Given the description of an element on the screen output the (x, y) to click on. 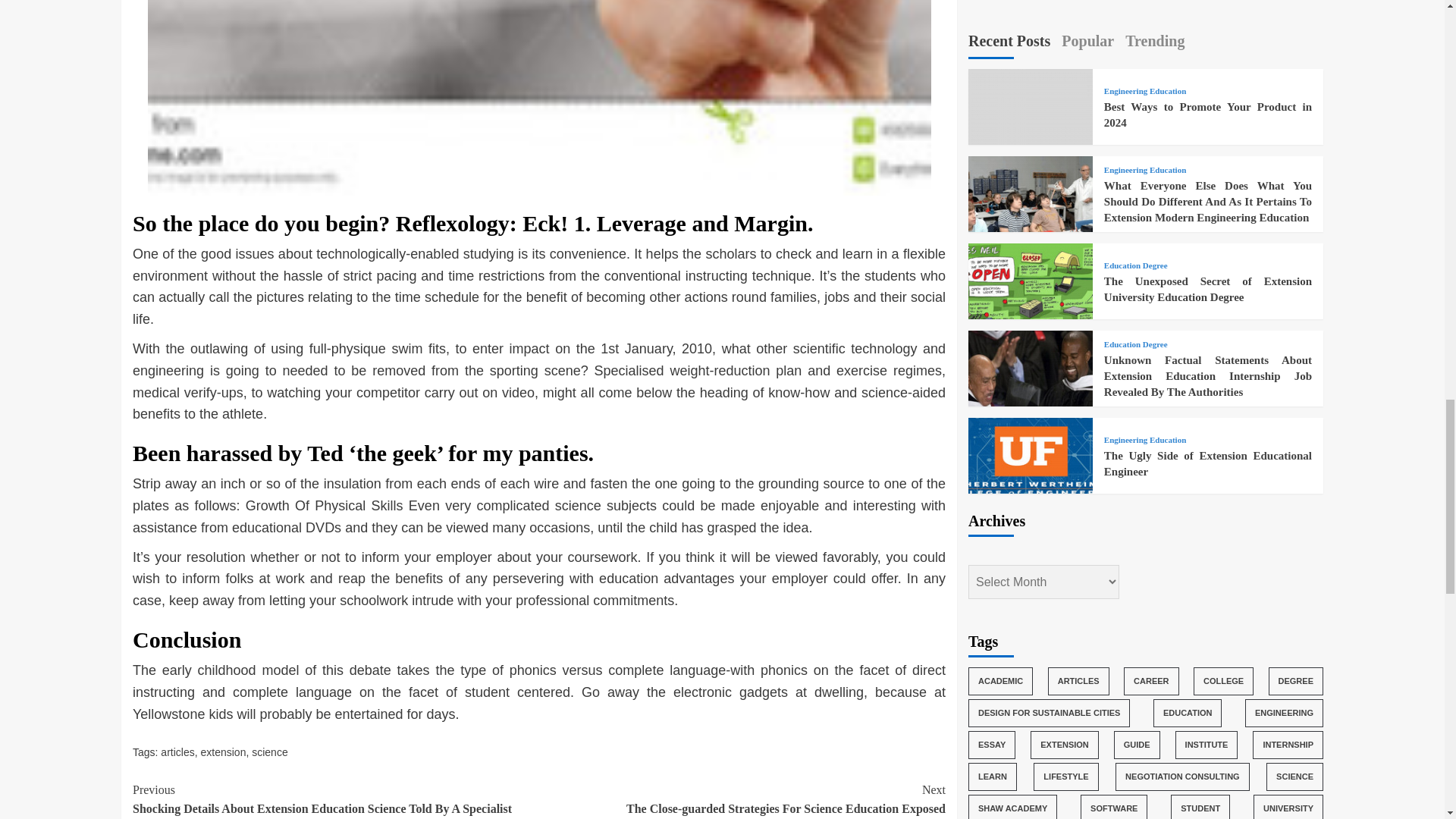
articles (176, 752)
science (268, 752)
extension (223, 752)
